Given the description of an element on the screen output the (x, y) to click on. 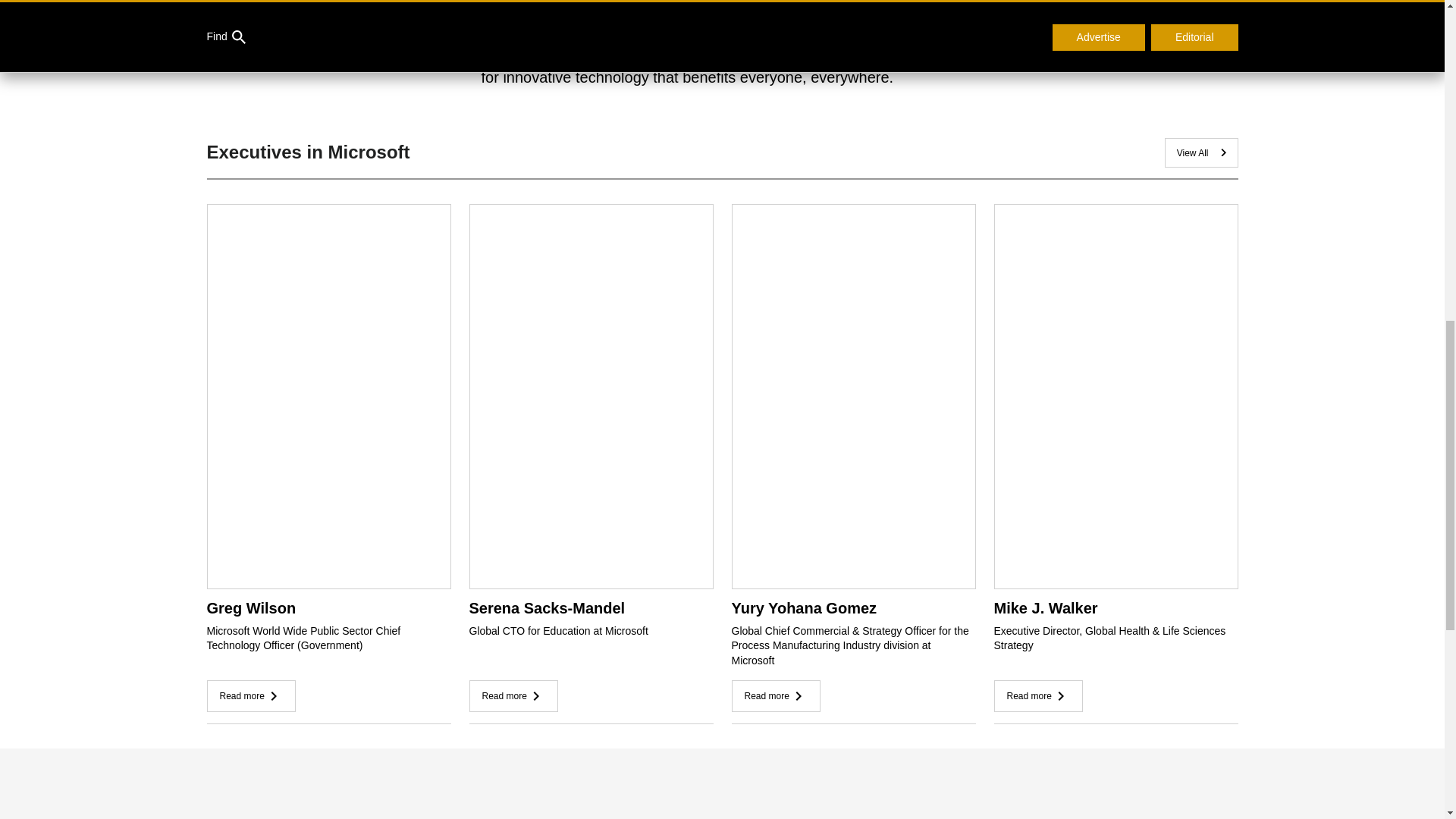
View All (1201, 152)
